Given the description of an element on the screen output the (x, y) to click on. 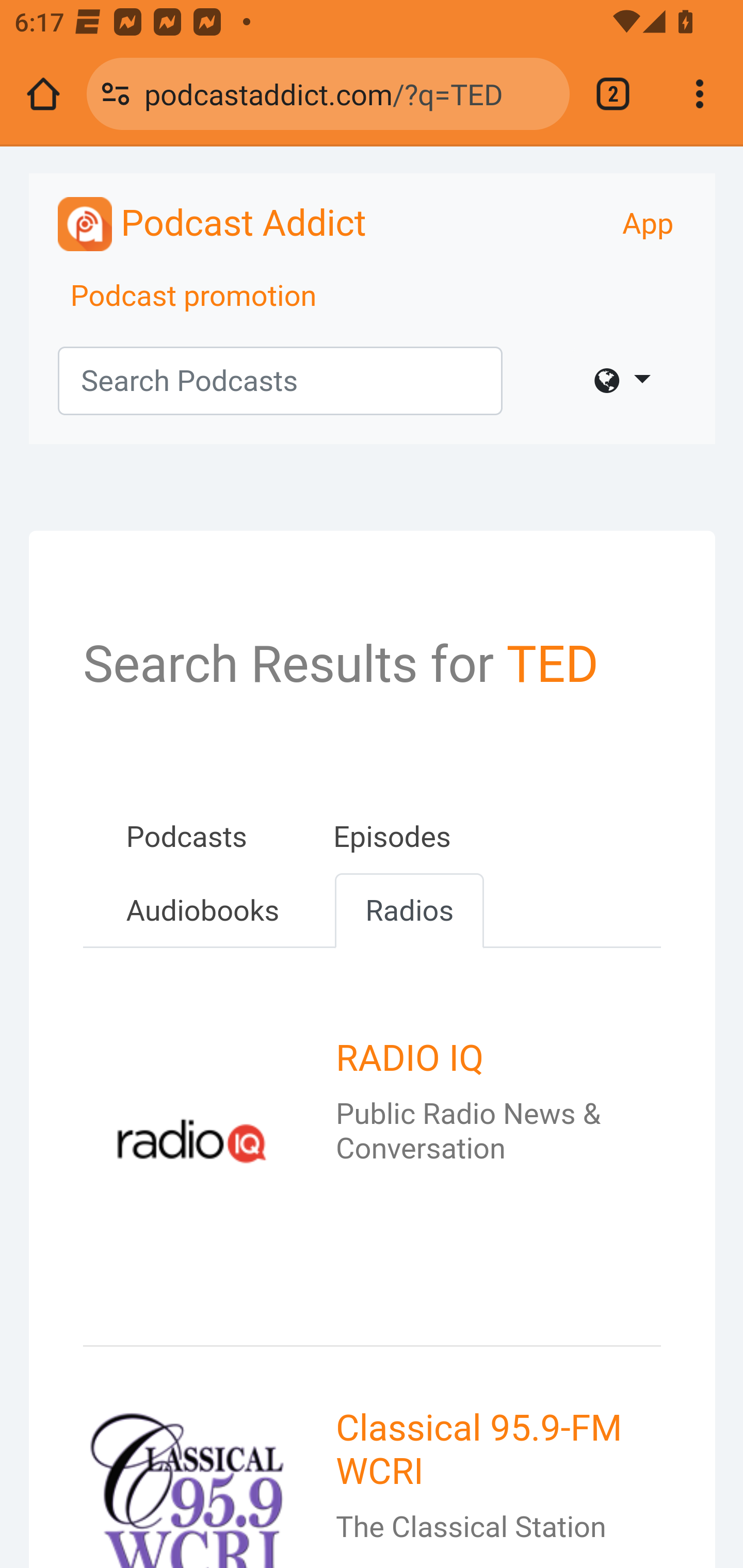
Open the home page (43, 93)
Connection is secure (115, 93)
Switch or close tabs (612, 93)
Customize and control Google Chrome (699, 93)
podcastaddict.com/?q=TED (349, 92)
App (648, 224)
Podcast promotion (193, 296)
 (622, 380)
Podcasts (185, 836)
Episodes (391, 836)
Audiobooks (201, 910)
Radios (409, 910)
